Given the description of an element on the screen output the (x, y) to click on. 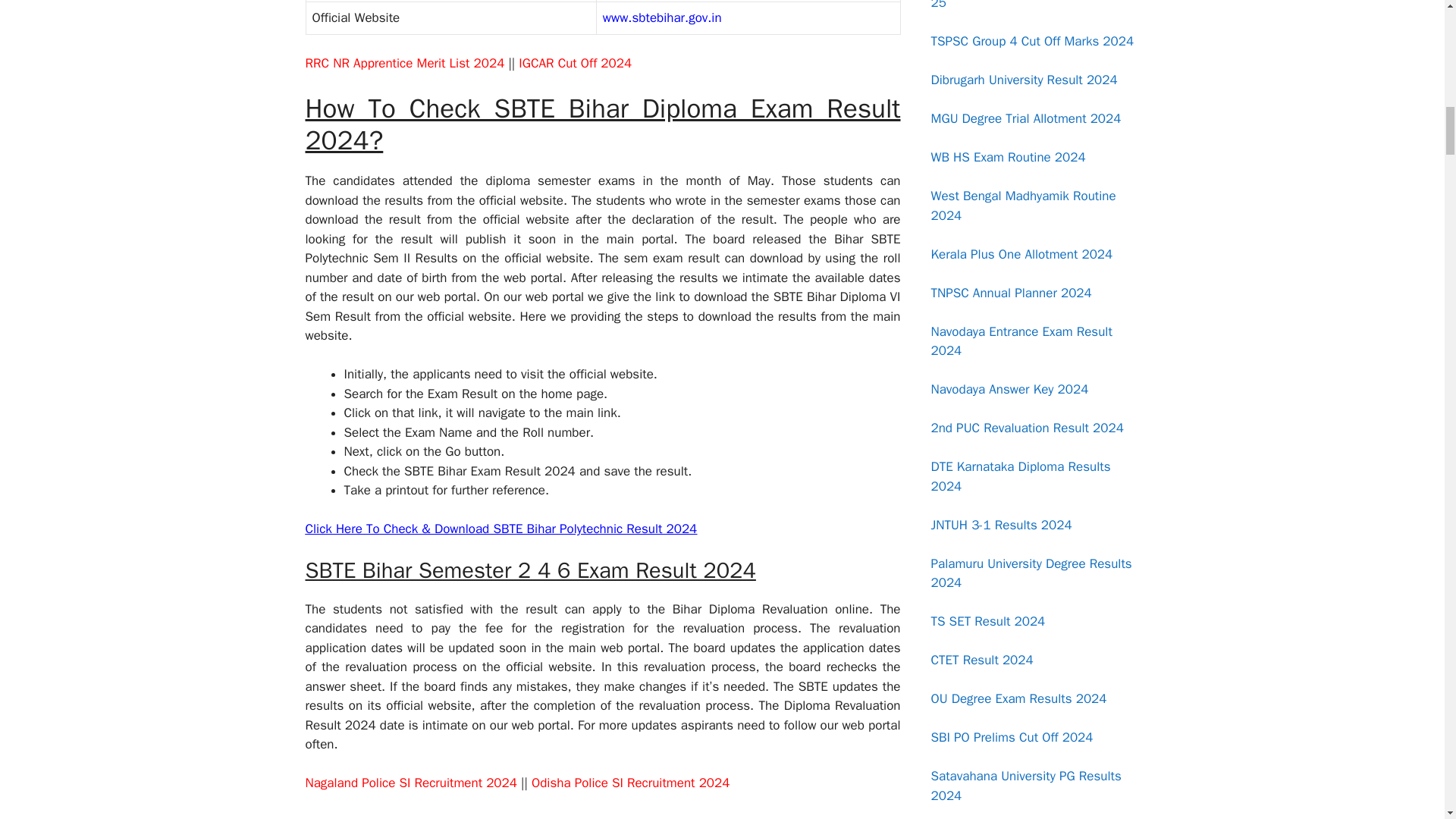
IGCAR Cut Off 2024 (574, 63)
RRC NR Apprentice Merit List 2024 (403, 63)
Odisha Police SI Recruitment 2024 (630, 782)
Nagaland Police SI Recruitment 2024 (410, 782)
www.sbtebihar.gov.in (662, 17)
